Given the description of an element on the screen output the (x, y) to click on. 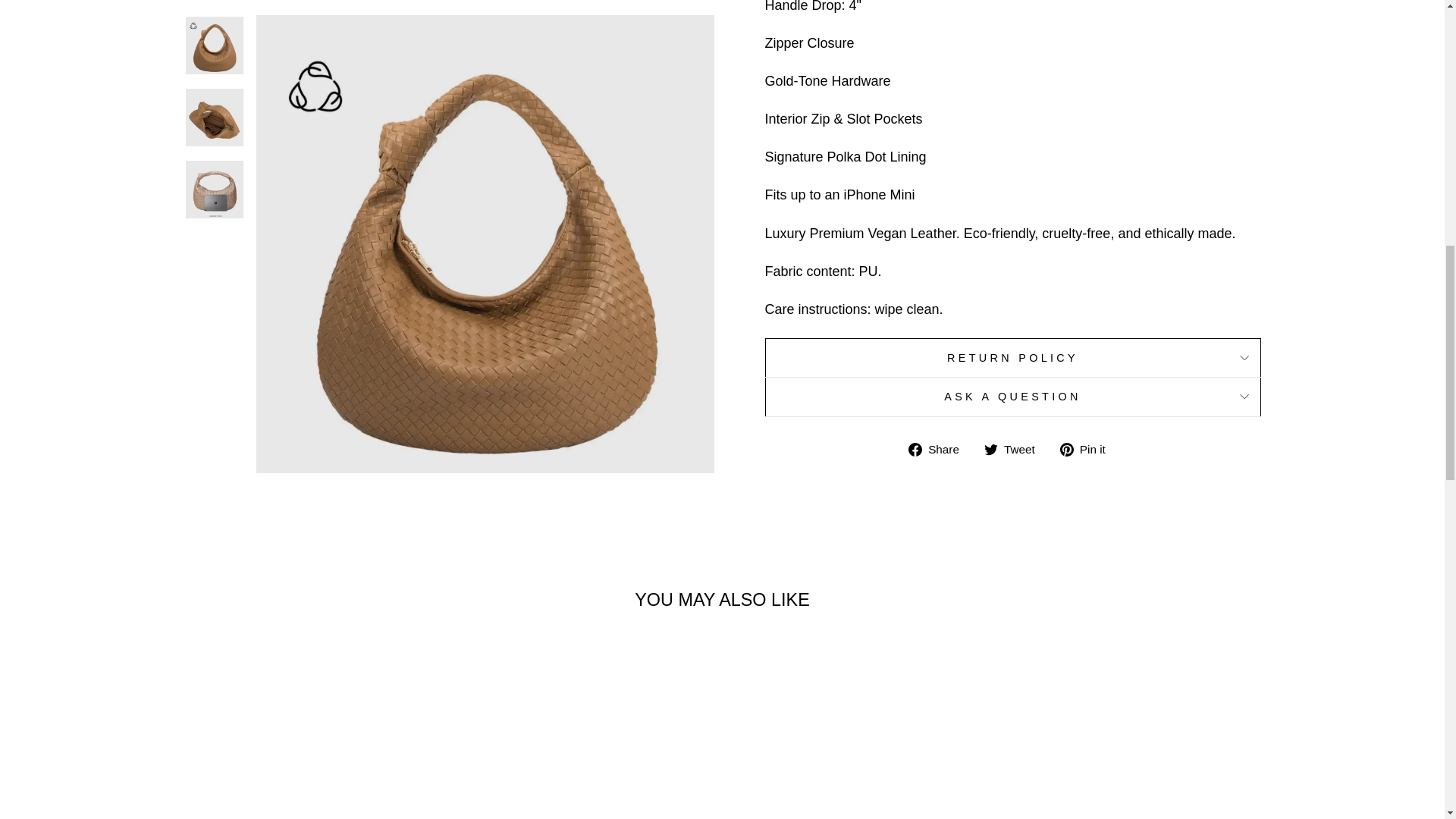
twitter (990, 449)
Share on Facebook (939, 448)
Tweet on Twitter (1015, 448)
Pin on Pinterest (1087, 448)
